Given the description of an element on the screen output the (x, y) to click on. 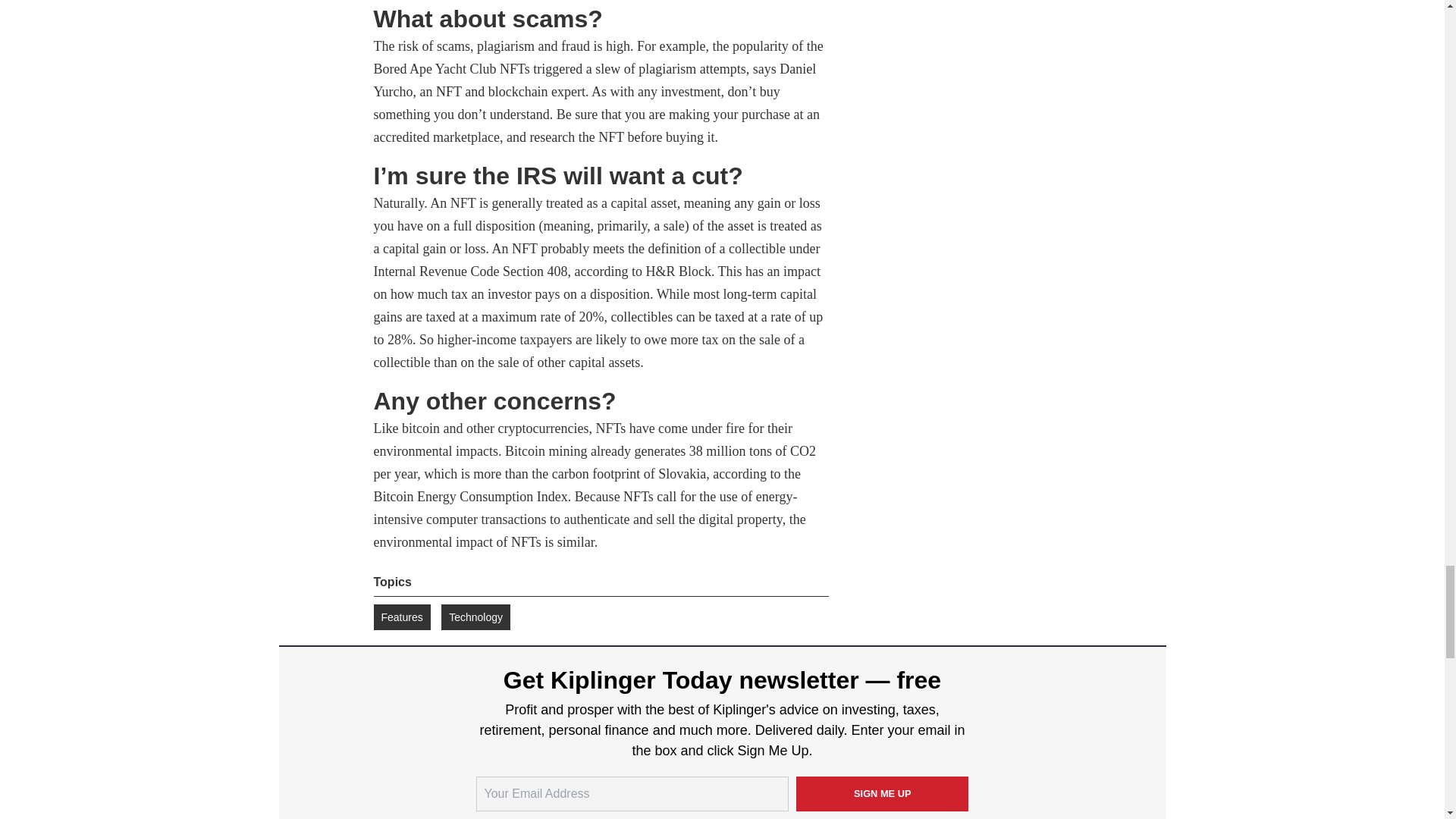
Sign me up (882, 793)
